Given the description of an element on the screen output the (x, y) to click on. 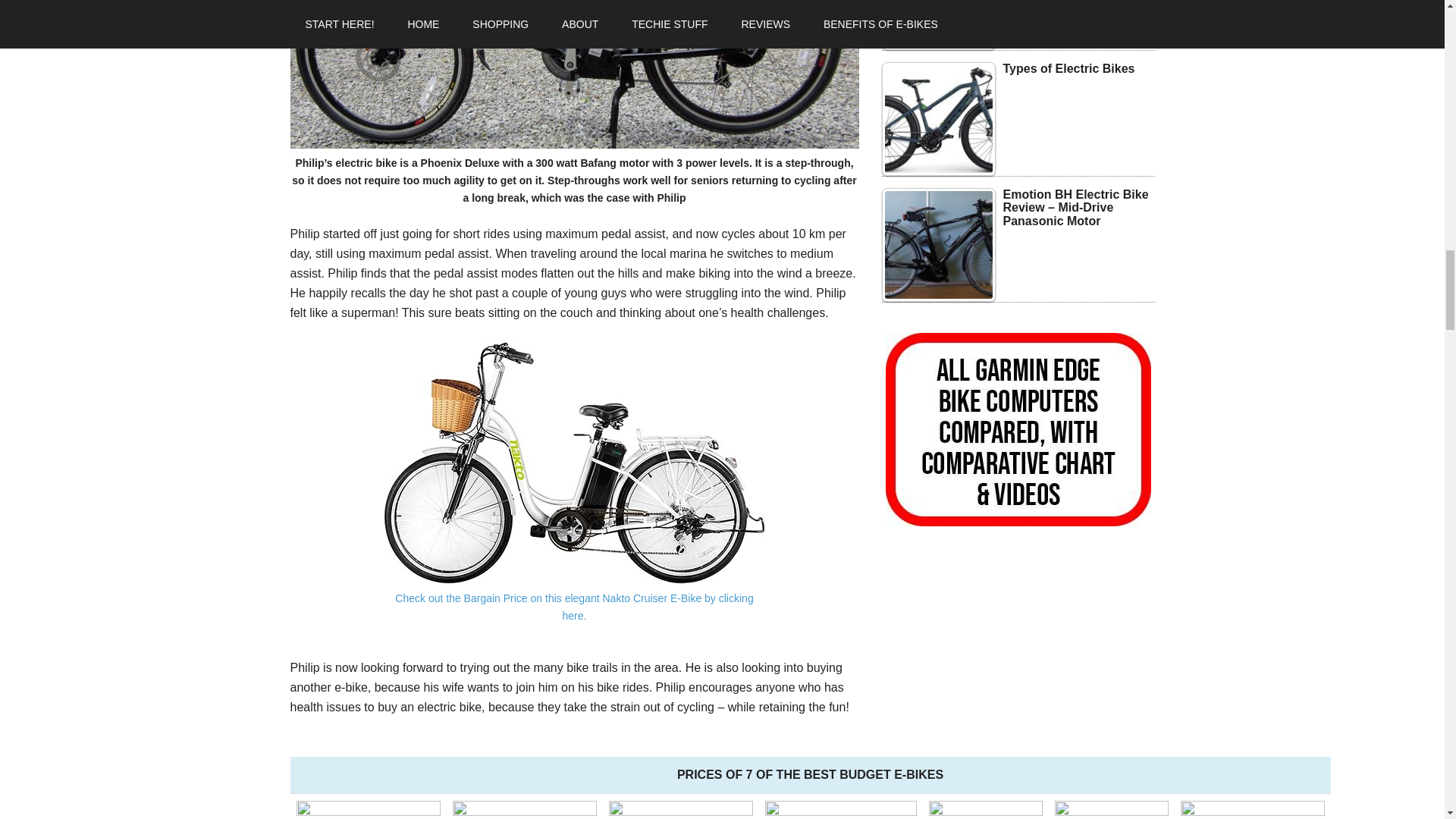
Emotion BH Electric Bike Review - Mid-Drive Panasonic Motor (937, 245)
Specialized Turbo Vado Review (937, 24)
Types of Electric Bikes (937, 119)
